Given the description of an element on the screen output the (x, y) to click on. 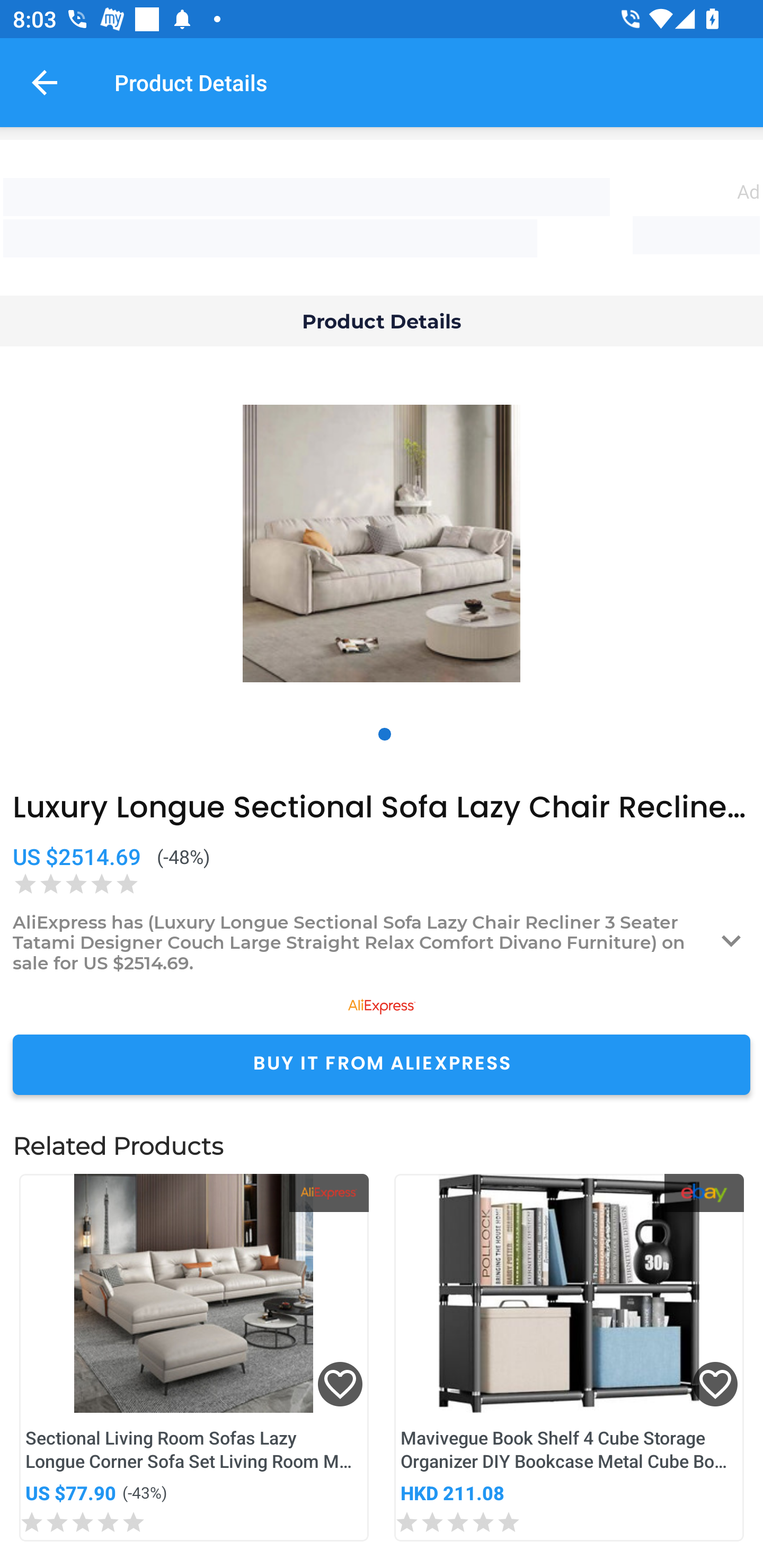
Navigate up (44, 82)
BUY IT FROM ALIEXPRESS (381, 1064)
